Given the description of an element on the screen output the (x, y) to click on. 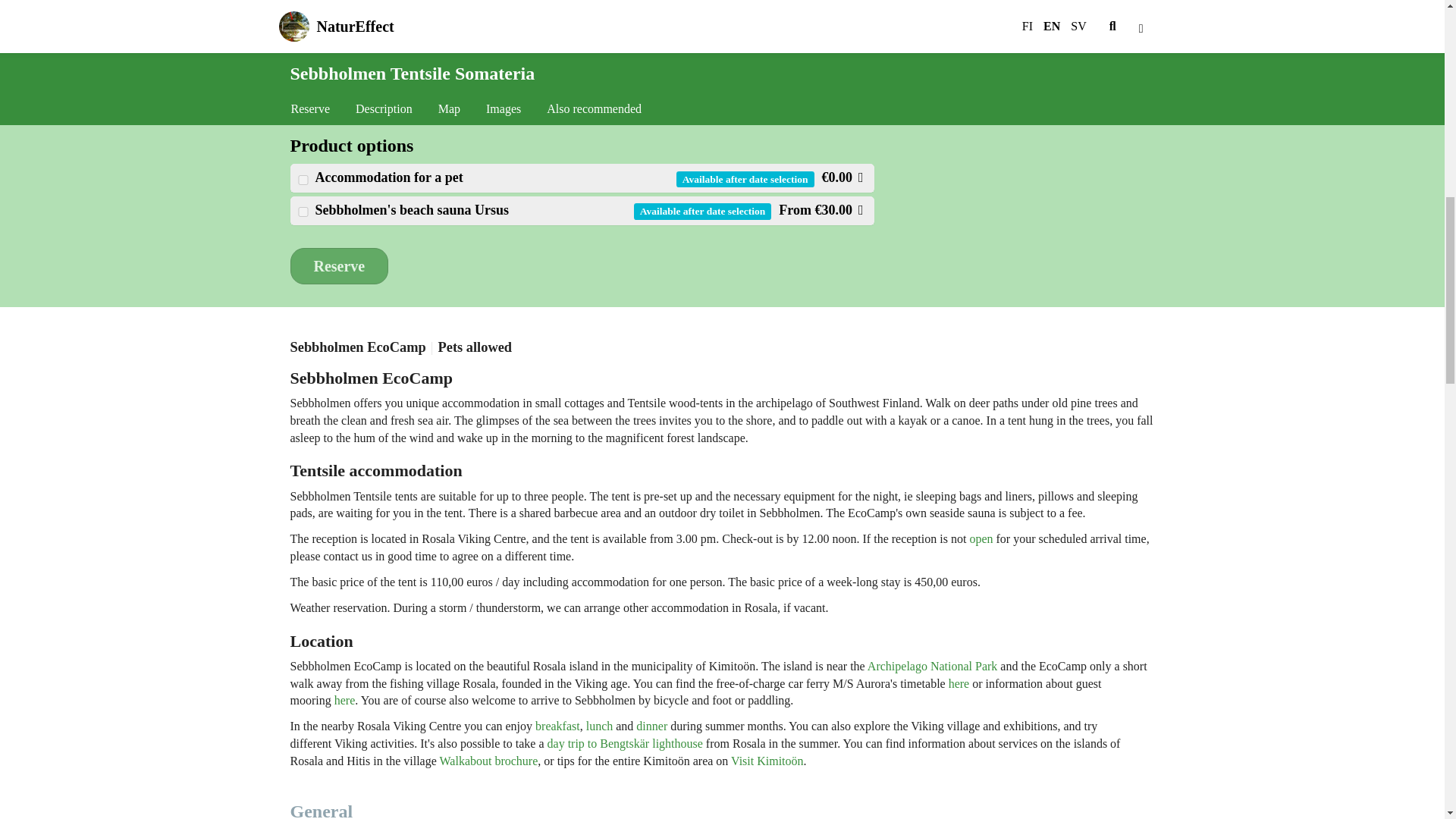
on (302, 180)
on (302, 212)
here (959, 683)
Reserve (338, 266)
dinner (651, 725)
Merchant terms (996, 108)
here (344, 699)
Archipelago National Park (932, 666)
open (980, 538)
breakfast (557, 725)
Walkabout brochure (488, 760)
lunch (599, 725)
